Given the description of an element on the screen output the (x, y) to click on. 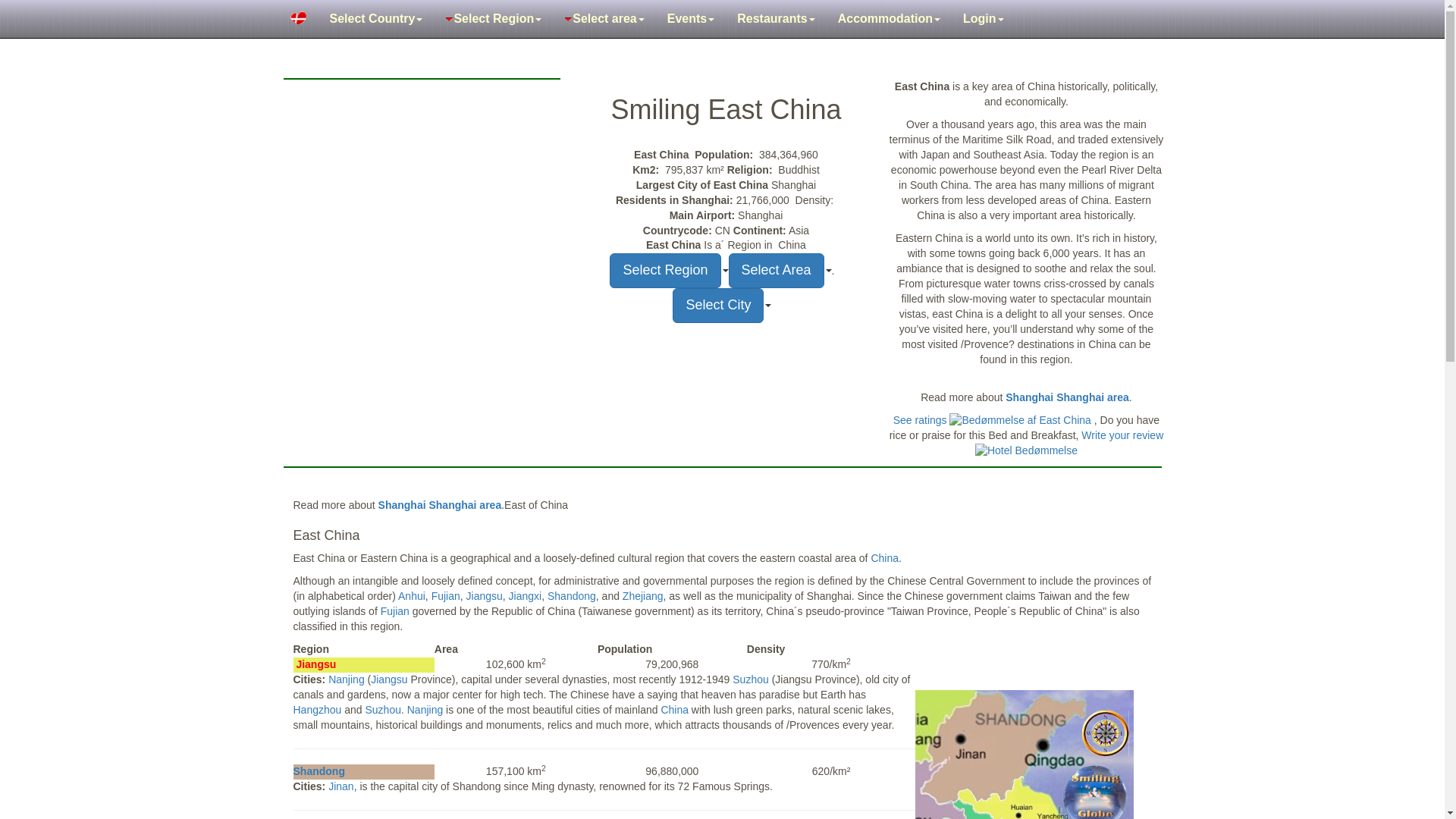
Jinan (341, 786)
Select Region (493, 18)
Shandong (317, 770)
Restaurants (775, 18)
Events (690, 18)
Hangzhou (316, 709)
Select area (604, 18)
Nanjing (389, 679)
Select Country (375, 18)
Nanjing (346, 679)
